Given the description of an element on the screen output the (x, y) to click on. 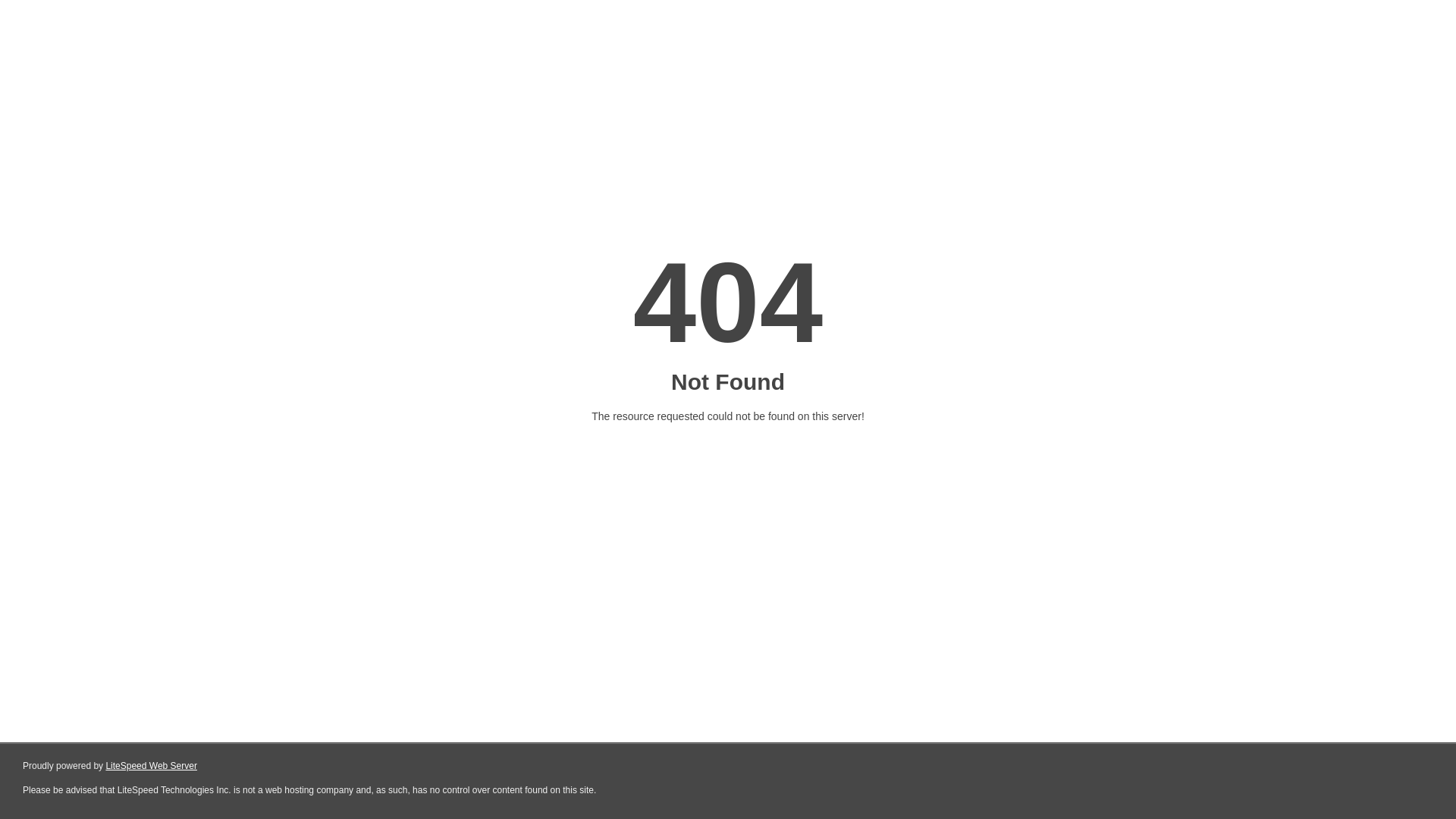
LiteSpeed Web Server Element type: text (151, 765)
